Given the description of an element on the screen output the (x, y) to click on. 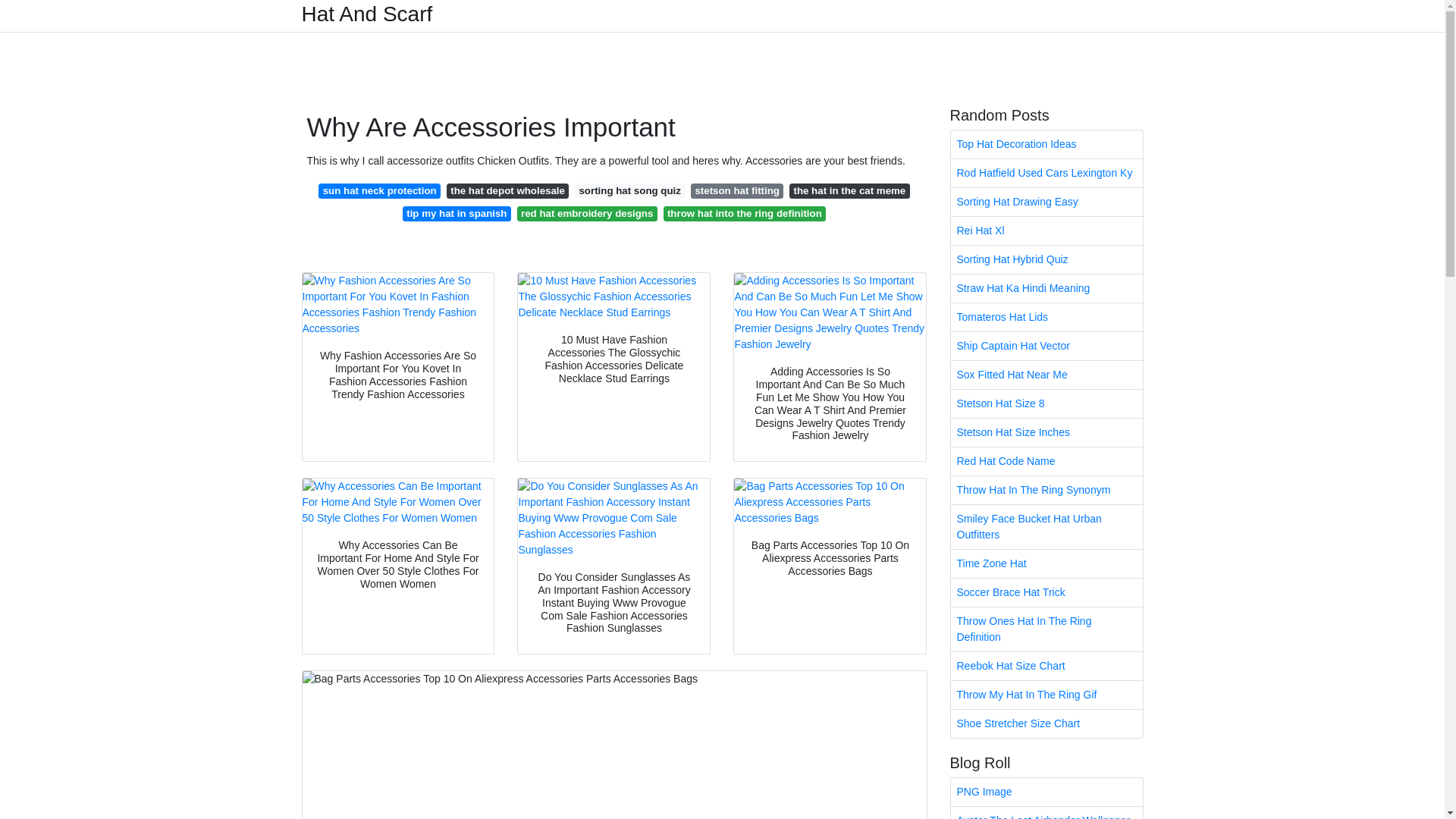
the hat depot wholesale (507, 191)
sorting hat song quiz (629, 191)
Top Hat Decoration Ideas (1046, 144)
the hat in the cat meme (848, 191)
Rei Hat Xl (1046, 230)
Sox Fitted Hat Near Me (1046, 375)
Rod Hatfield Used Cars Lexington Ky (1046, 172)
throw hat into the ring definition (744, 213)
Hat And Scarf (366, 13)
tip my hat in spanish (457, 213)
